Given the description of an element on the screen output the (x, y) to click on. 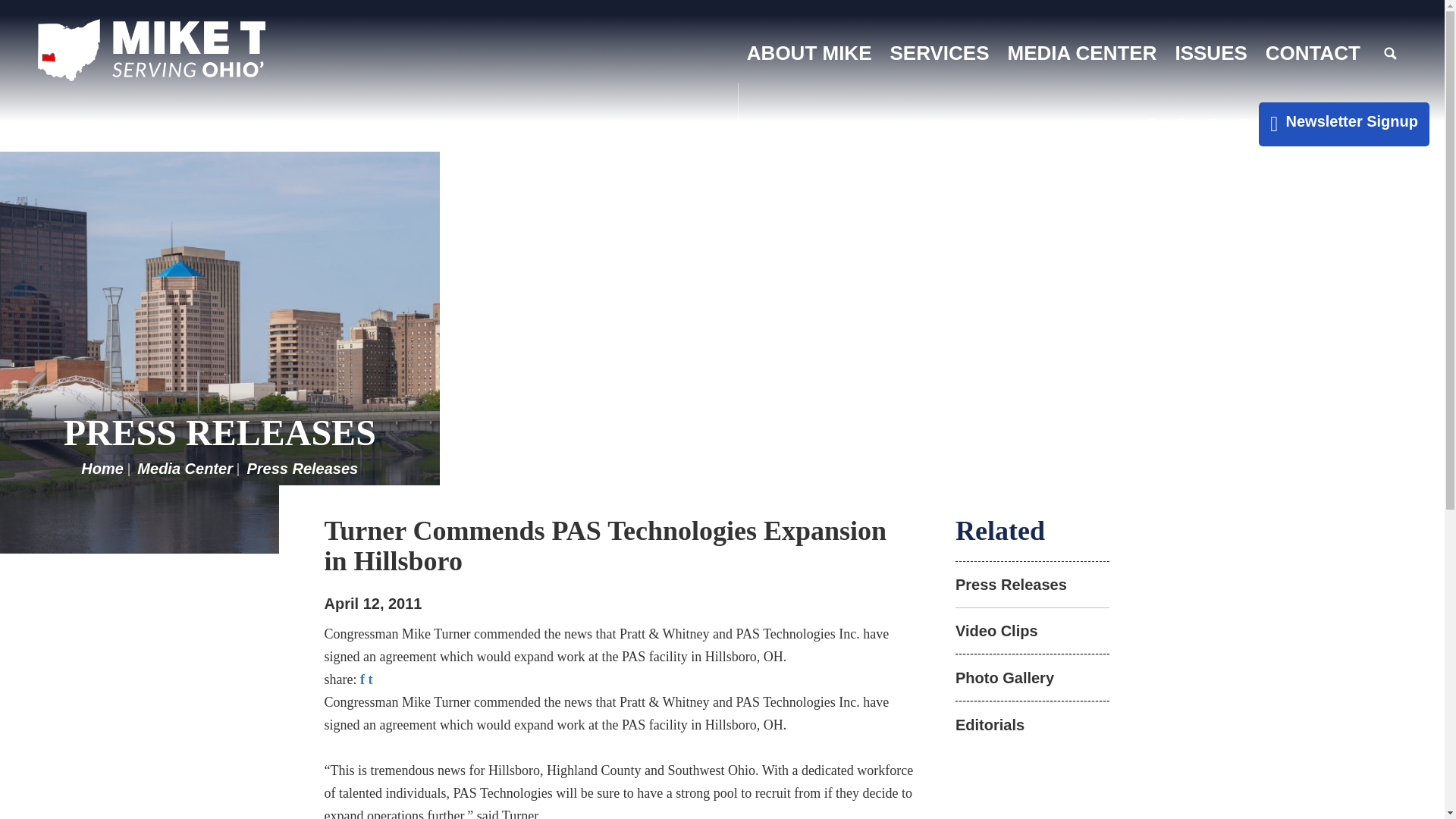
MEDIA CENTER (1082, 52)
CONGRESSMAN MICHAEL TURNER (150, 50)
ABOUT MIKE (809, 52)
ISSUES (1210, 52)
SERVICES (939, 52)
